Given the description of an element on the screen output the (x, y) to click on. 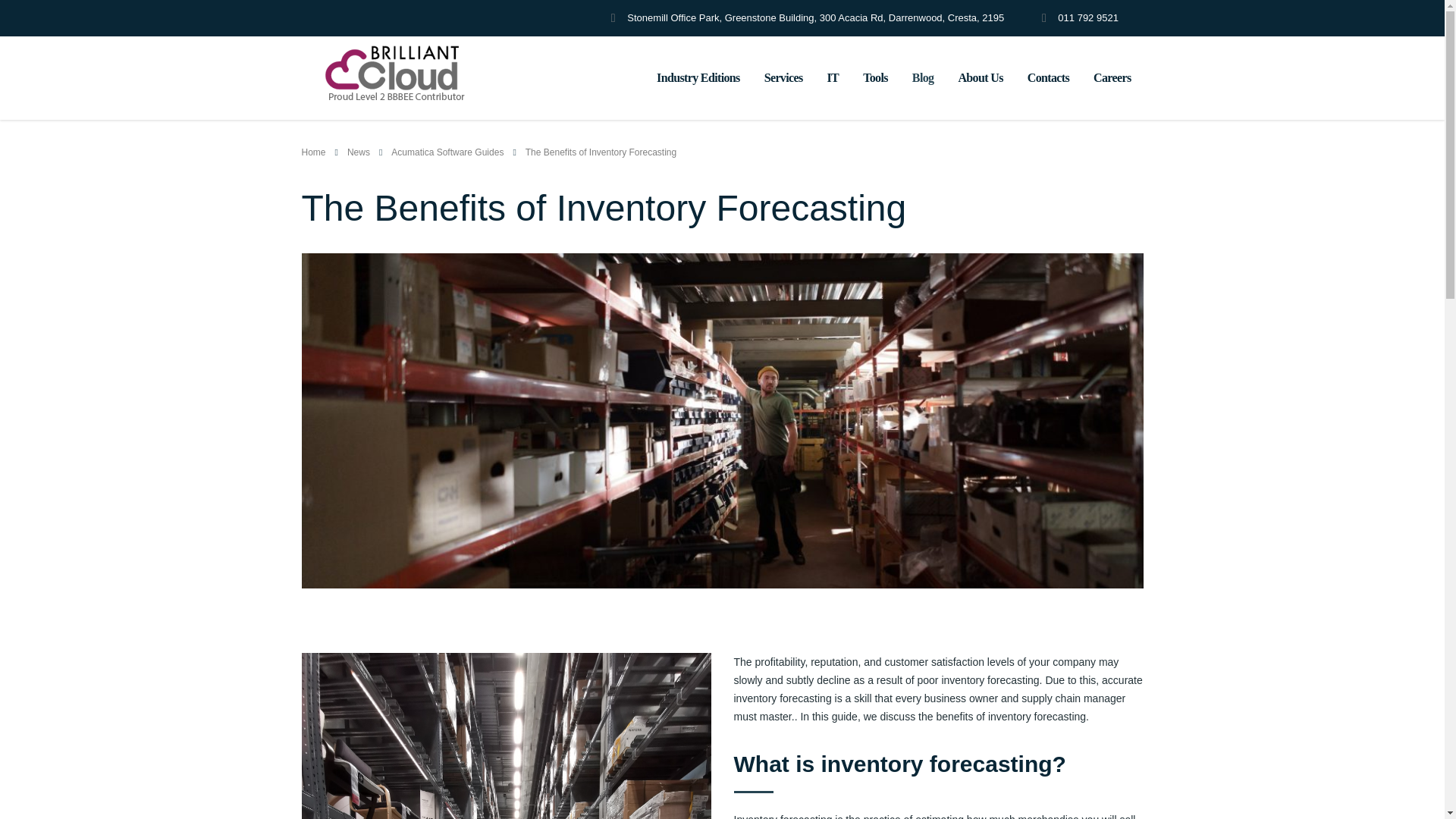
Industry Editions (698, 78)
Tools (874, 78)
Go to News. (358, 152)
Contacts (1047, 78)
Acumatica Software Guides (447, 152)
Go to the Acumatica Software Guides category archives. (447, 152)
Careers (1111, 78)
Blog (922, 78)
Home (313, 152)
Go to Brilliant Cloud. (313, 152)
About Us (979, 78)
Services (783, 78)
News (358, 152)
IT (833, 78)
